Given the description of an element on the screen output the (x, y) to click on. 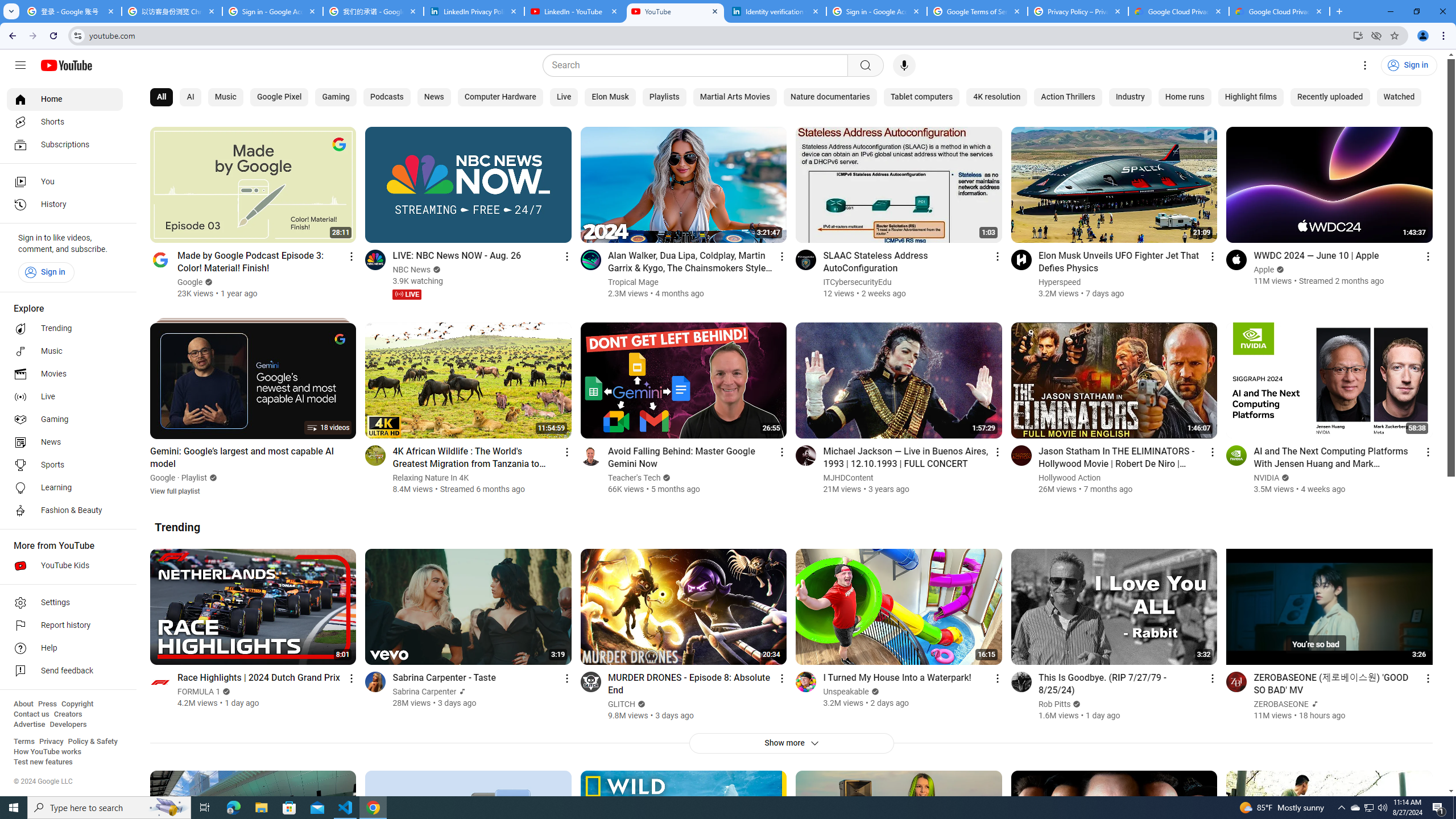
Sign in - Google Accounts (876, 11)
Martial Arts Movies (735, 97)
FORMULA 1 (199, 691)
History (64, 204)
LinkedIn Privacy Policy (474, 11)
Industry (1129, 97)
Action Thrillers (1067, 97)
Hollywood Action (1070, 477)
Live (64, 396)
